Given the description of an element on the screen output the (x, y) to click on. 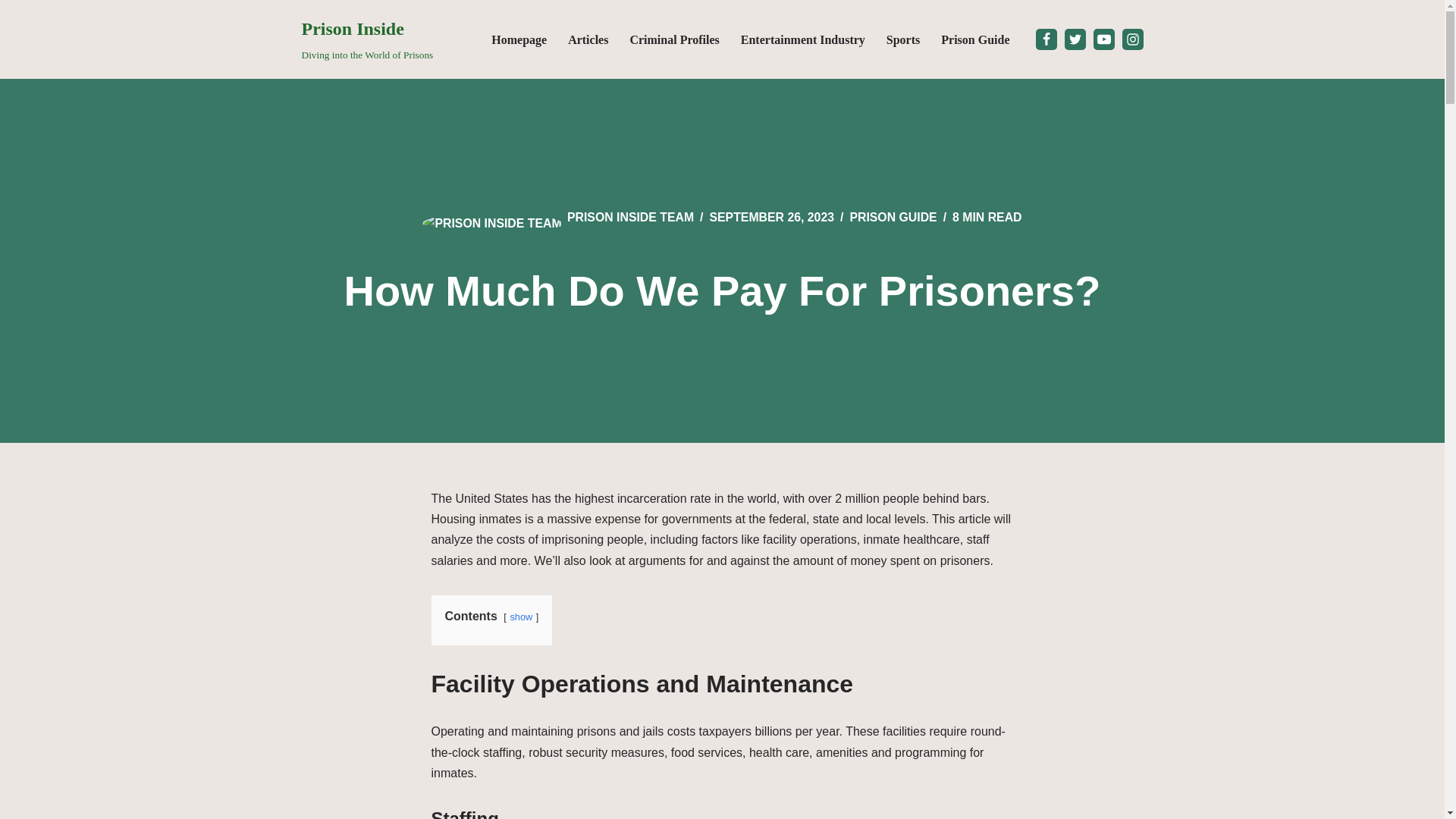
Twitter (367, 39)
Instagram (1075, 38)
Facebook (1132, 38)
Navigation Menu (1046, 38)
Articles (1418, 18)
Homepage (587, 39)
Youtube (519, 39)
Skip to content (1104, 38)
Prison Guide (11, 31)
PRISON INSIDE TEAM (974, 39)
show (630, 216)
PRISON GUIDE (520, 616)
Posts by Prison Inside Team (892, 216)
Criminal Profiles (630, 216)
